Given the description of an element on the screen output the (x, y) to click on. 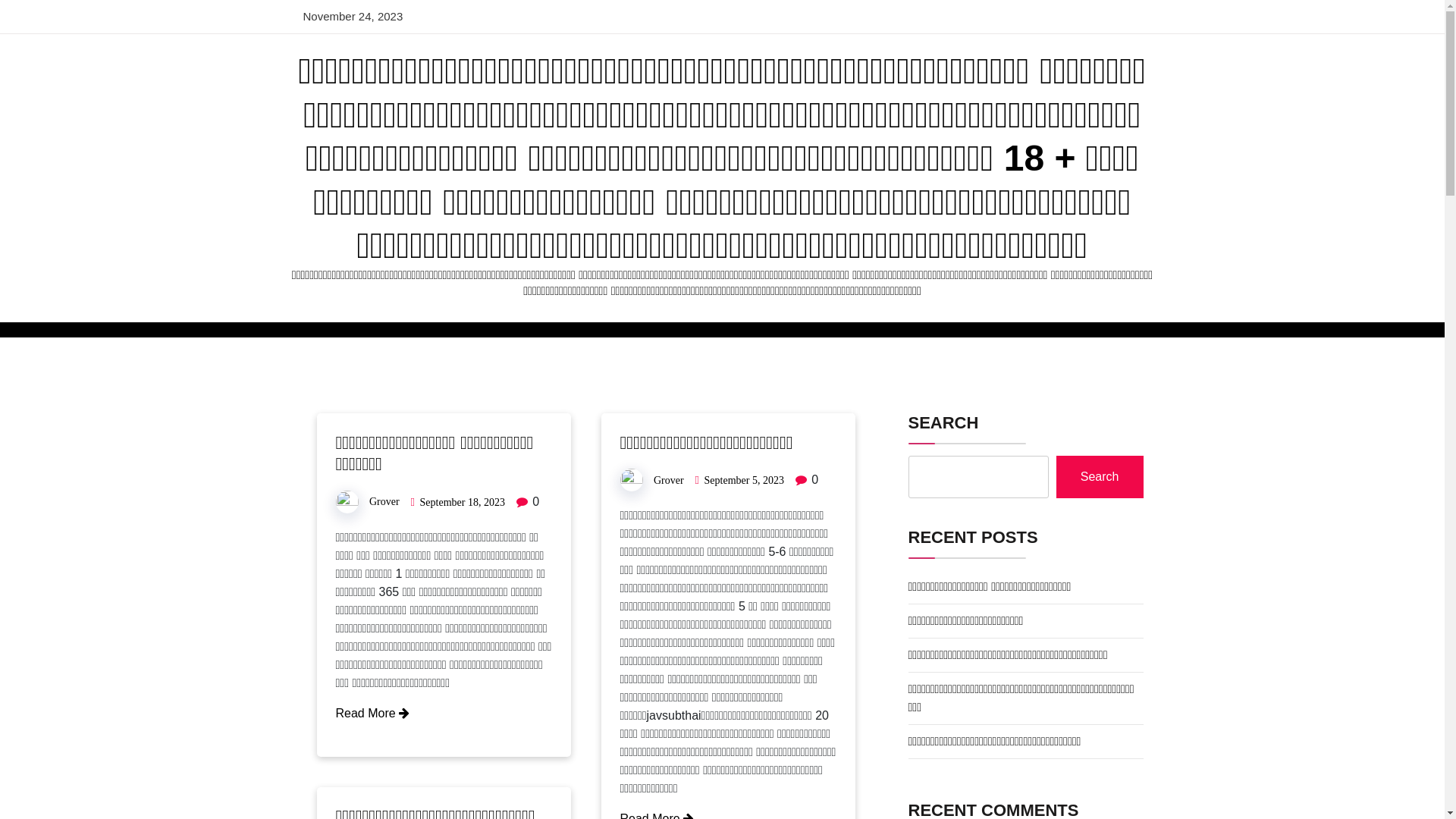
September 18, 2023 Element type: text (462, 502)
Read More Element type: text (372, 712)
Grover Element type: text (384, 501)
Grover Element type: text (668, 480)
Search Element type: text (1099, 476)
September 5, 2023 Element type: text (744, 480)
